Given the description of an element on the screen output the (x, y) to click on. 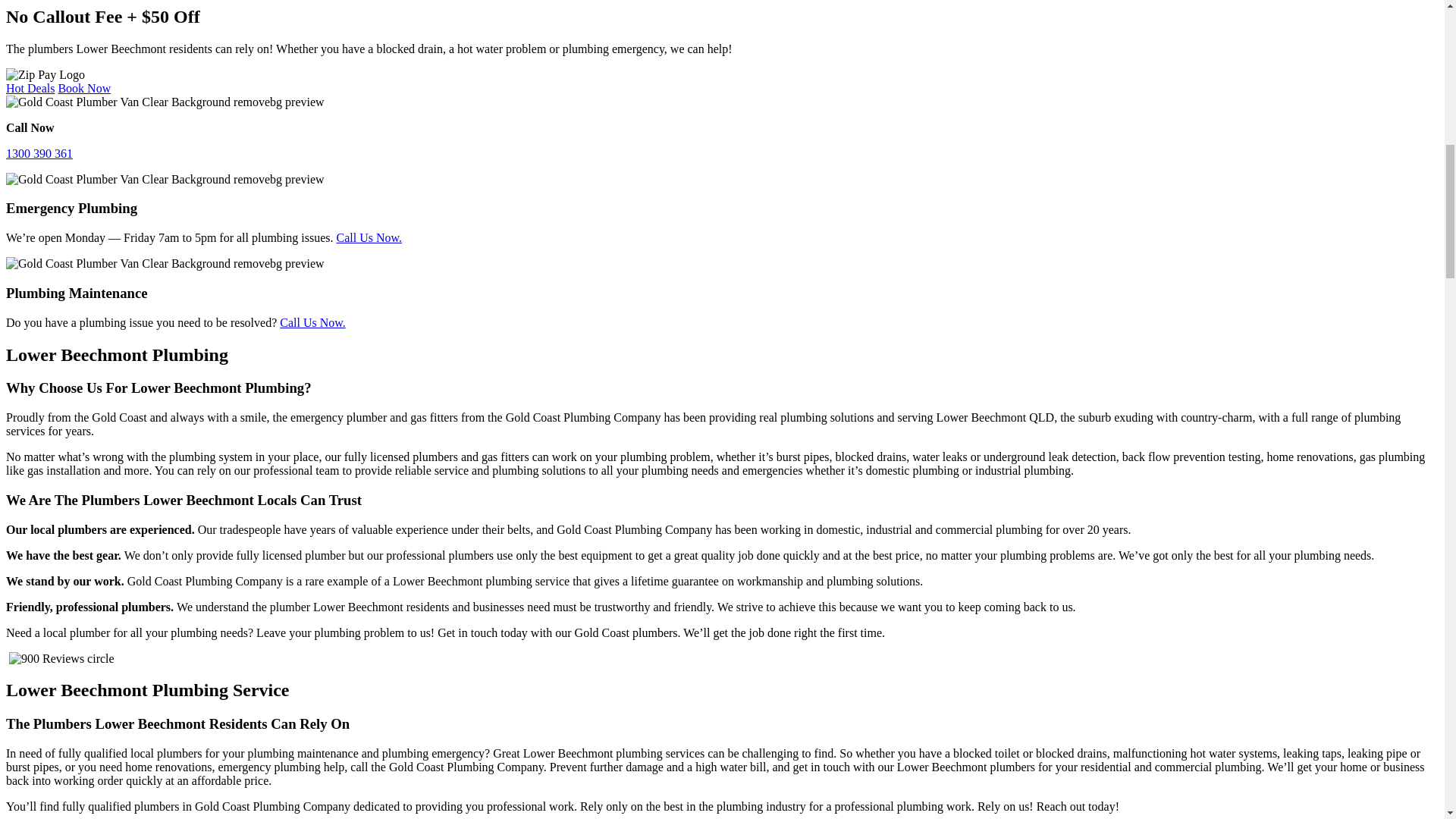
Gold Coast Plumber Van Clear Background removebg preview (164, 101)
Gold Coast Plumber Van Clear Background removebg preview (164, 179)
900 Reviews circle (61, 658)
Gold Coast Plumber Van Clear Background removebg preview (164, 264)
